Given the description of an element on the screen output the (x, y) to click on. 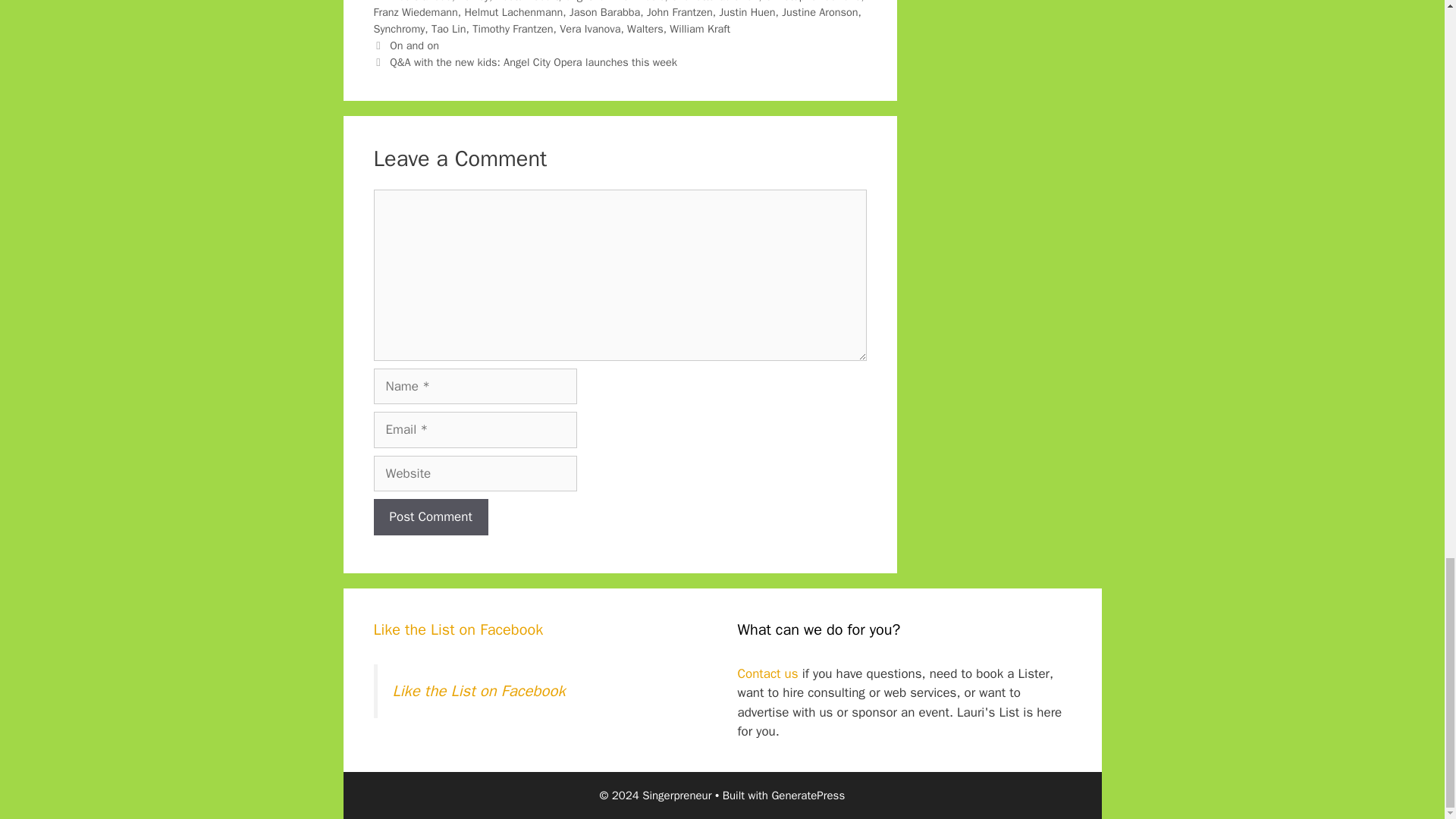
Franz Wiedemann (414, 11)
Ashley (473, 1)
brightwork newmusic (614, 1)
Post Comment (429, 516)
Charlotte Gulezian (714, 1)
Christopher Cerrone (812, 1)
Helmut Lachenmann (513, 11)
Albert Giraud (420, 1)
Boston Court (526, 1)
